Given the description of an element on the screen output the (x, y) to click on. 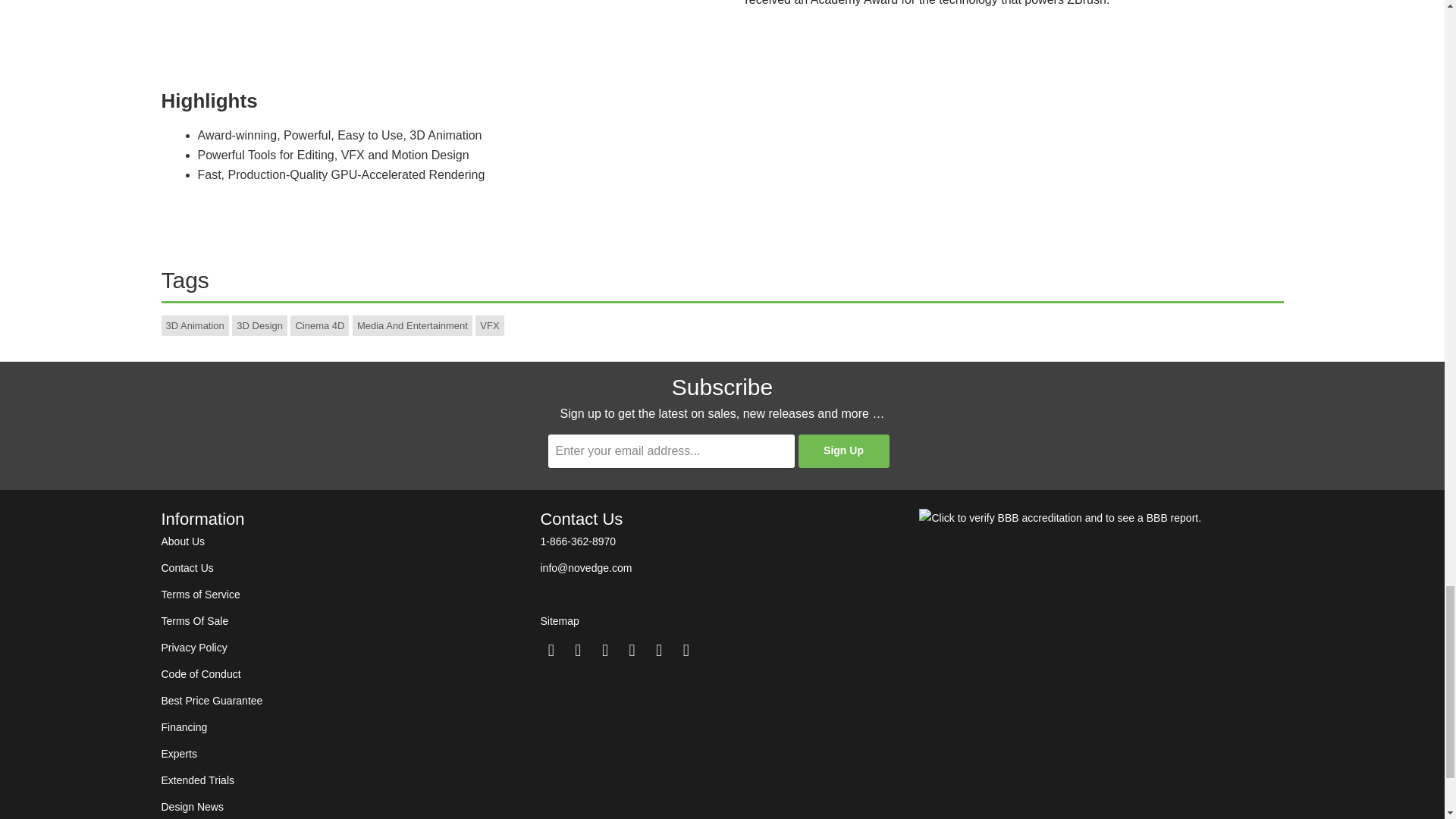
Sign Up (842, 450)
NOVEDGE on Twitter (551, 650)
